Given the description of an element on the screen output the (x, y) to click on. 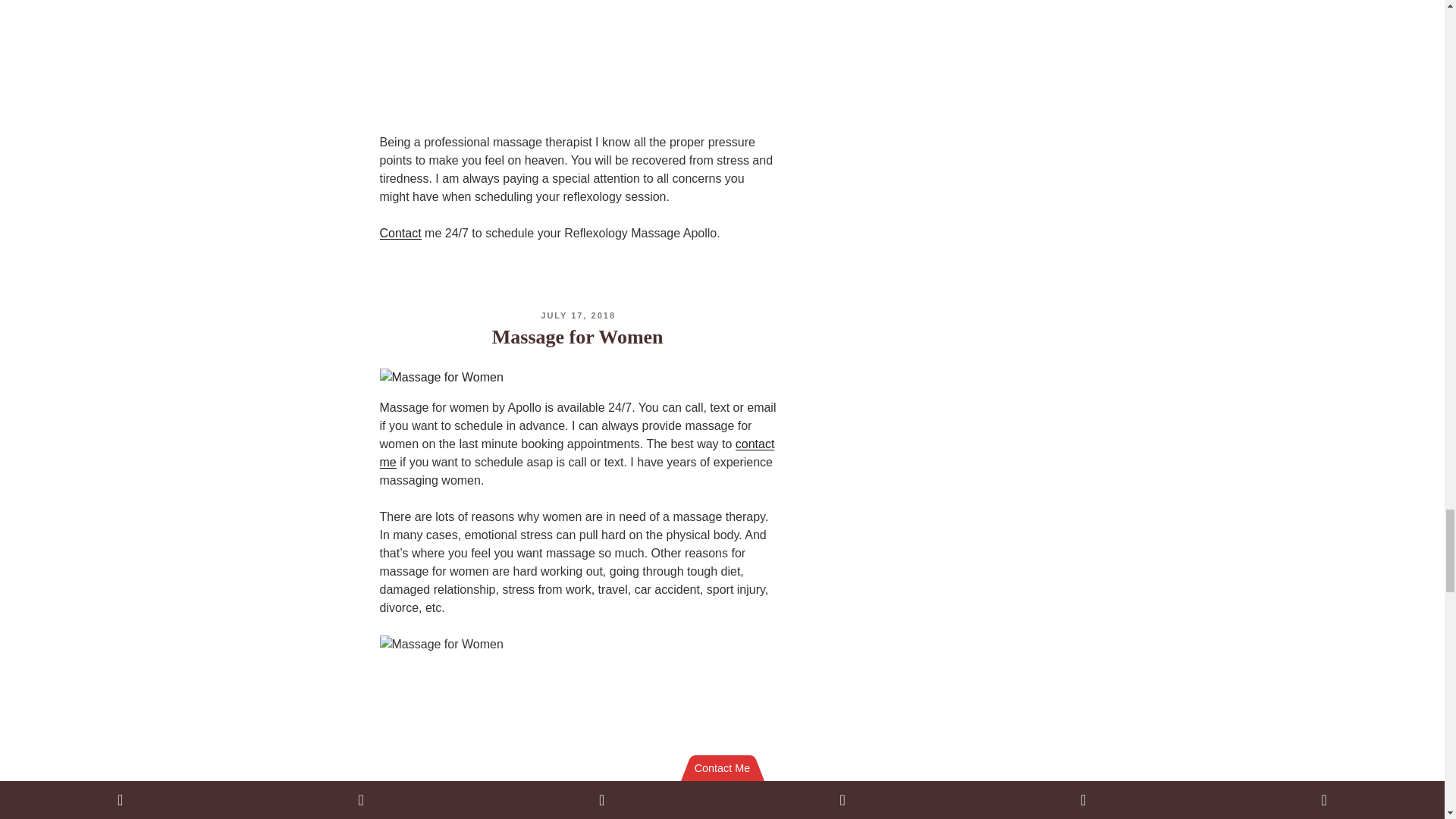
Massage for Women (577, 336)
JULY 17, 2018 (577, 315)
Contact (399, 232)
contact me (576, 452)
